Given the description of an element on the screen output the (x, y) to click on. 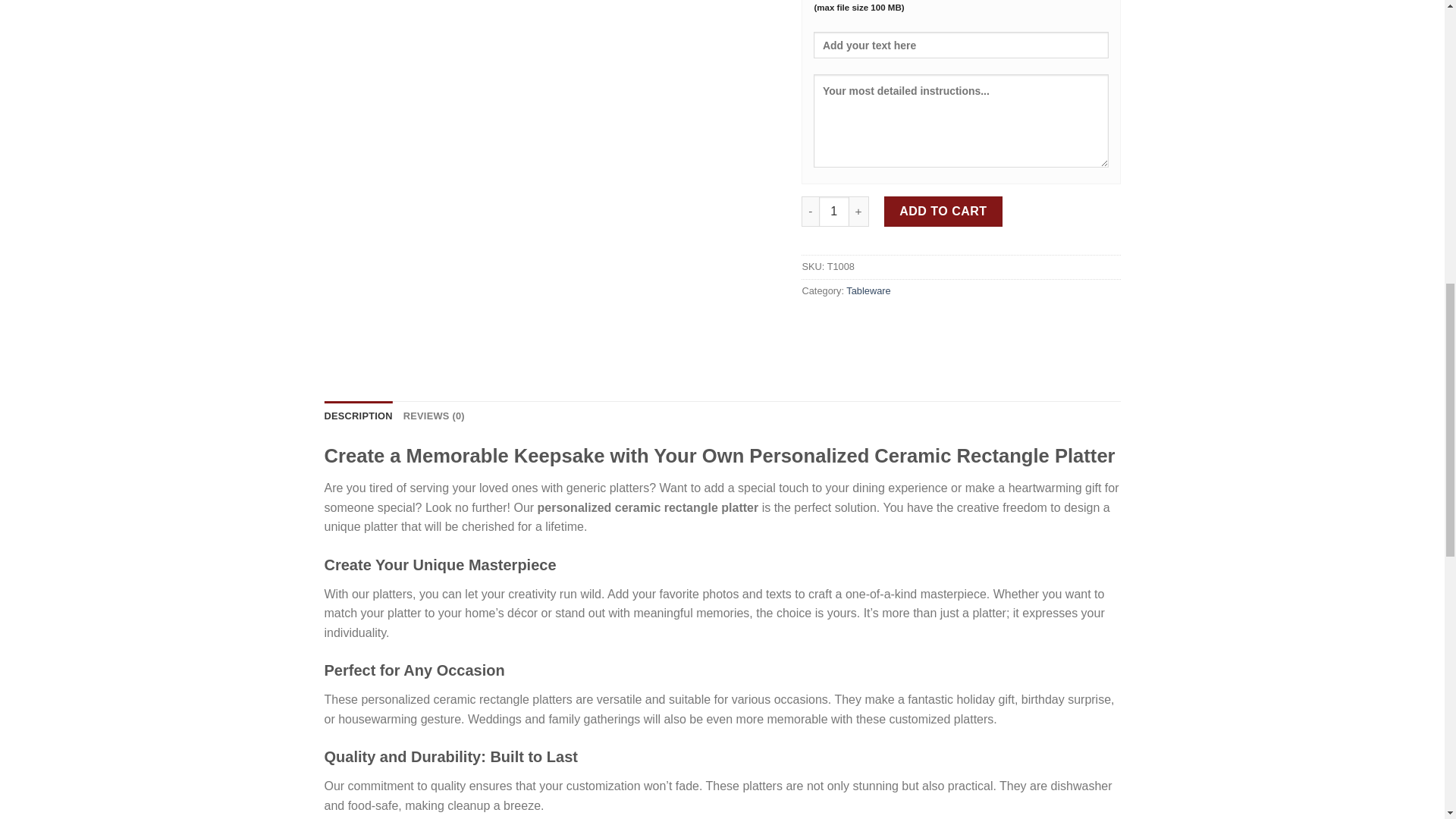
ADD TO CART (943, 211)
1 (833, 211)
Tableware (867, 290)
